Given the description of an element on the screen output the (x, y) to click on. 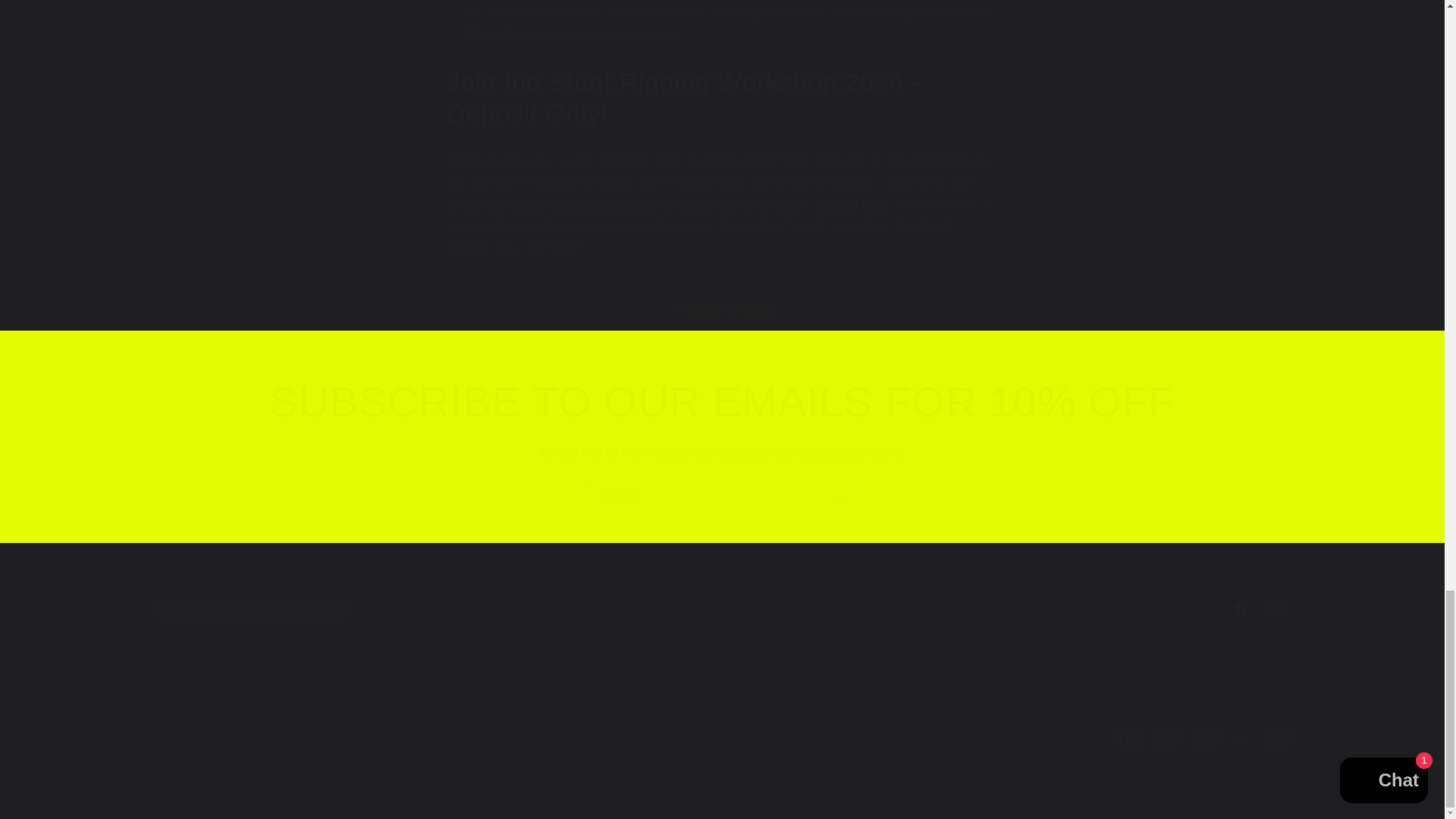
Email (722, 497)
